Given the description of an element on the screen output the (x, y) to click on. 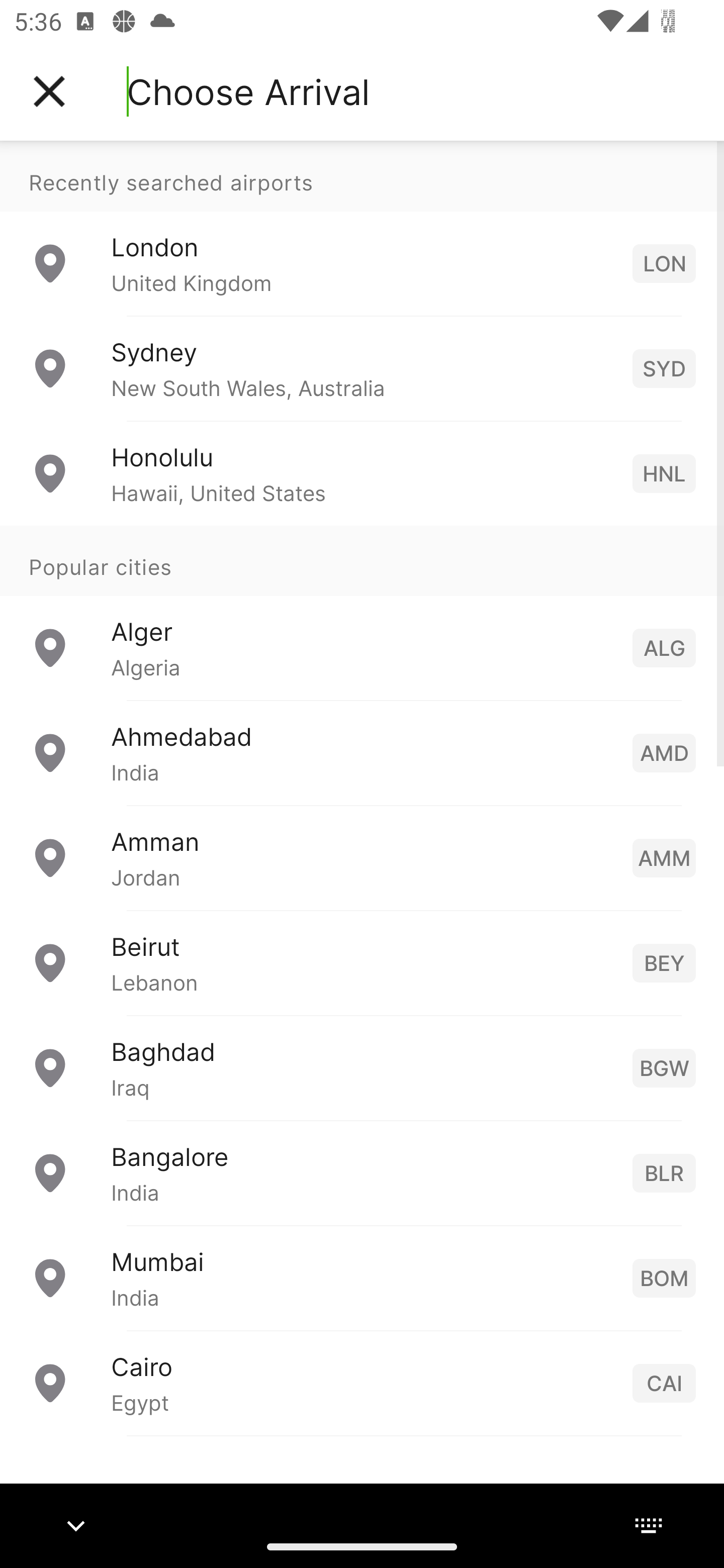
Choose Arrival (247, 91)
Recently searched airports (362, 176)
Sydney New South Wales, Australia SYD (362, 367)
Honolulu Hawaii, United States HNL (362, 472)
Popular cities Alger Algeria ALG (362, 612)
Popular cities (362, 560)
Ahmedabad India AMD (362, 751)
Amman Jordan AMM (362, 856)
Beirut Lebanon BEY (362, 961)
Baghdad Iraq BGW (362, 1066)
Bangalore India BLR (362, 1171)
Mumbai India BOM (362, 1276)
Cairo Egypt CAI (362, 1381)
